Given the description of an element on the screen output the (x, y) to click on. 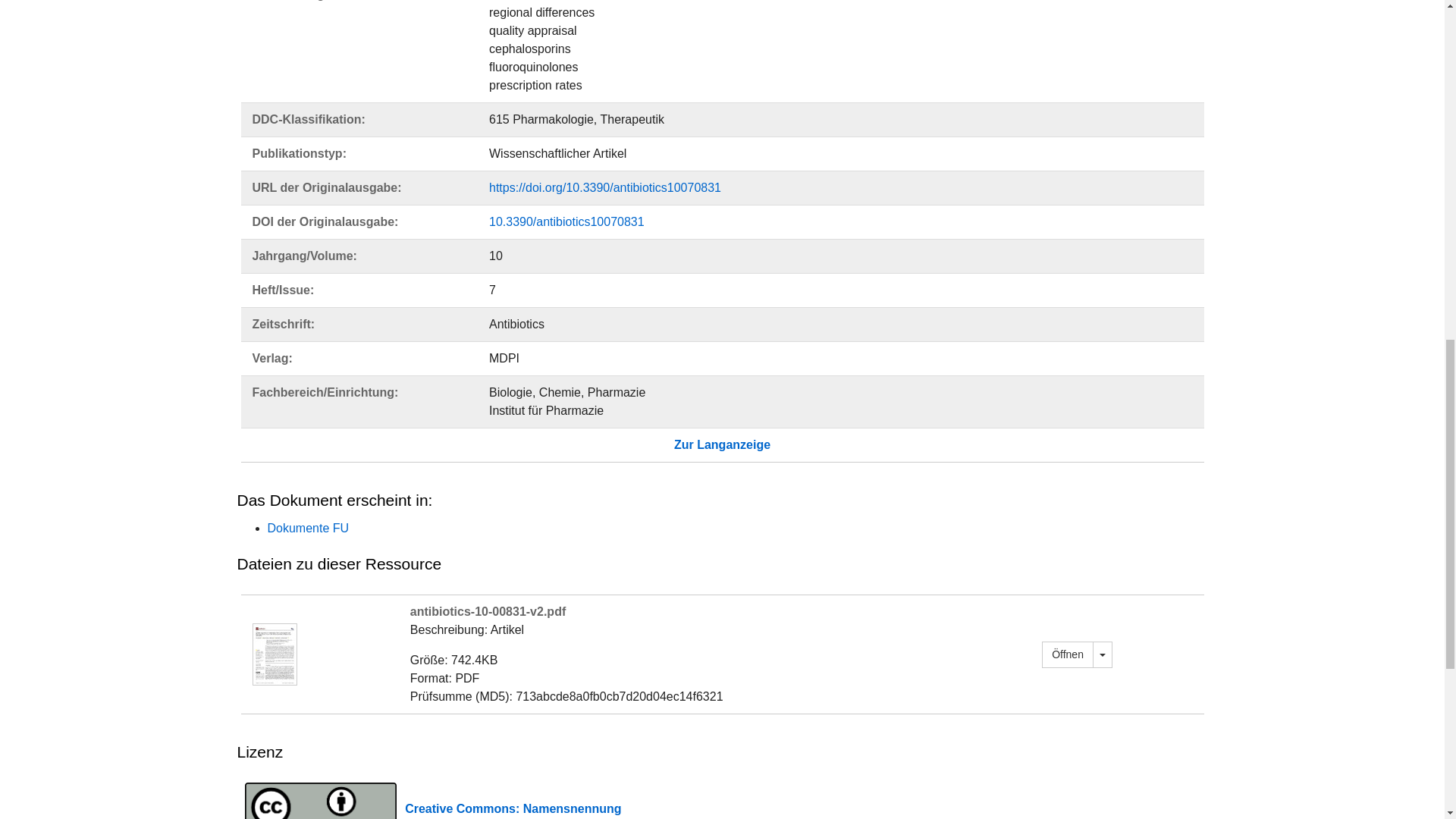
antibiotics-10-00831-v2.pdf (1067, 654)
antibiotics-10-00831-v2.pdf (274, 653)
